Given the description of an element on the screen output the (x, y) to click on. 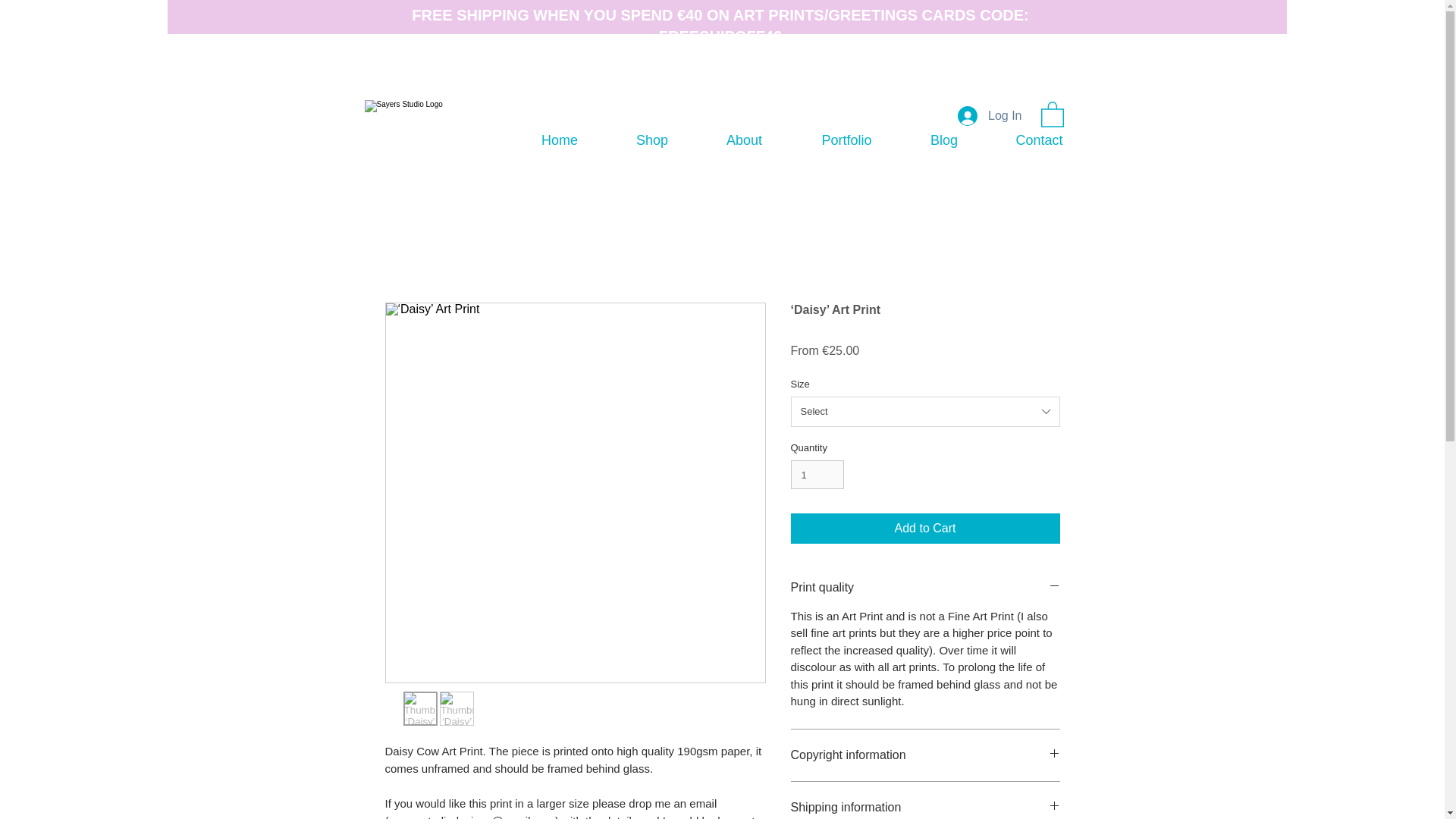
Contact (1039, 140)
Shipping information (924, 807)
1 (817, 474)
Shop (652, 140)
Select (924, 411)
Portfolio (846, 140)
Blog (944, 140)
Log In (989, 115)
Copyright information (924, 754)
Home (559, 140)
Add to Cart (924, 528)
Print quality (924, 587)
About (744, 140)
